Given the description of an element on the screen output the (x, y) to click on. 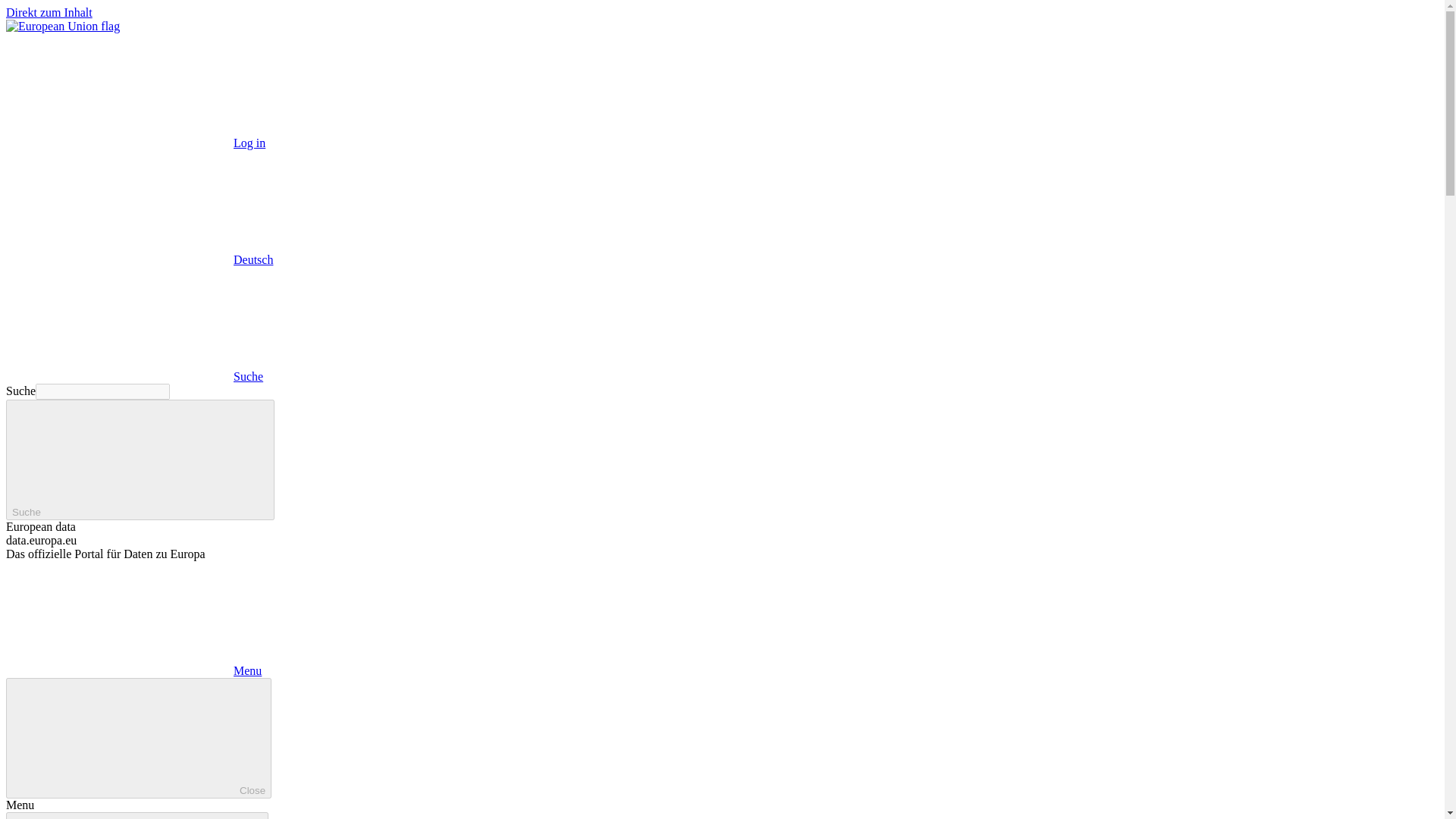
Suche (140, 459)
Menu (133, 670)
Suche (134, 376)
Close (137, 738)
Deutsch (139, 259)
European Union (62, 25)
Back (136, 815)
Direkt zum Inhalt (49, 11)
Log in (134, 142)
